Given the description of an element on the screen output the (x, y) to click on. 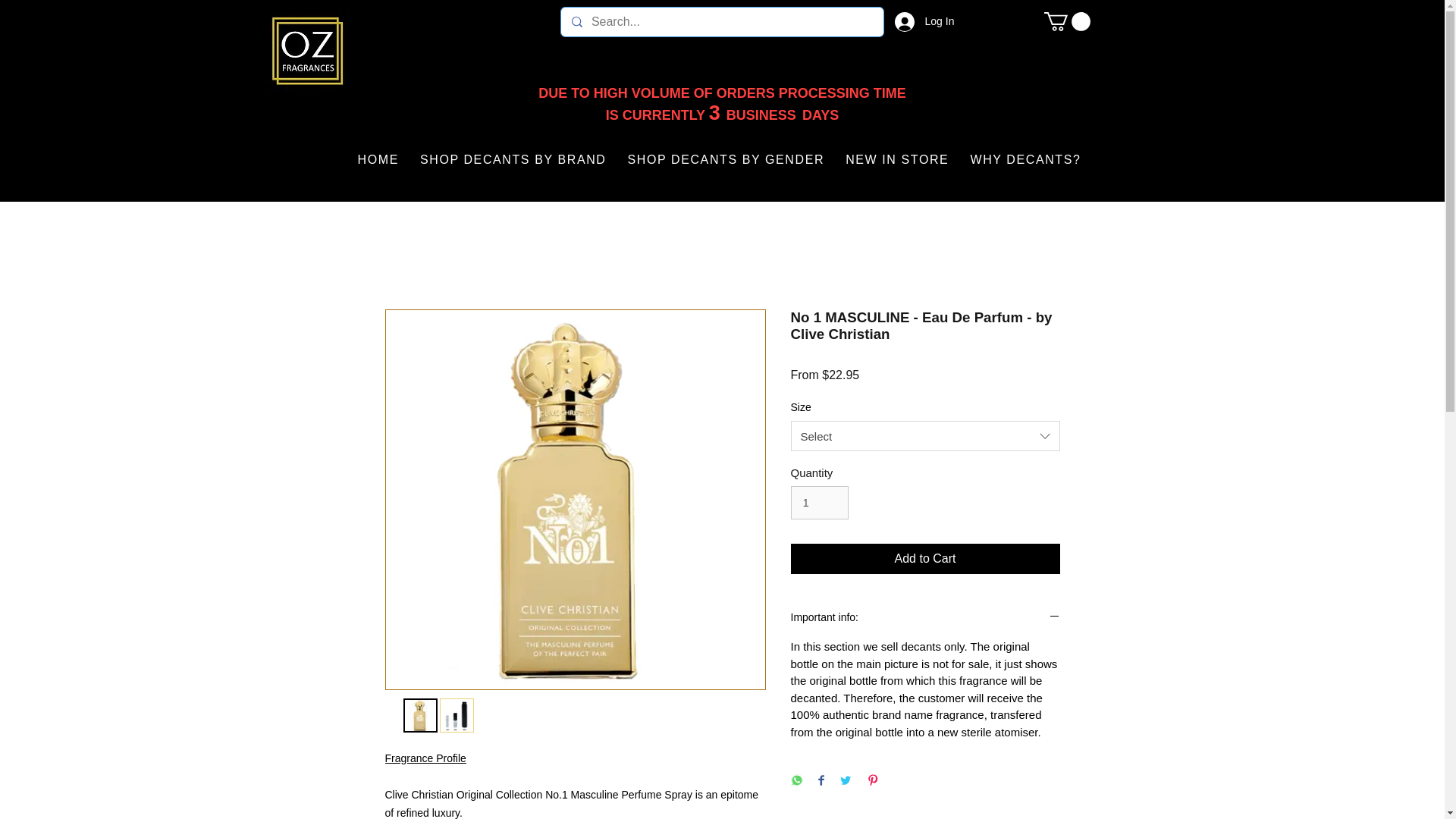
HOME (377, 159)
Log In (915, 21)
1 (818, 502)
